Given the description of an element on the screen output the (x, y) to click on. 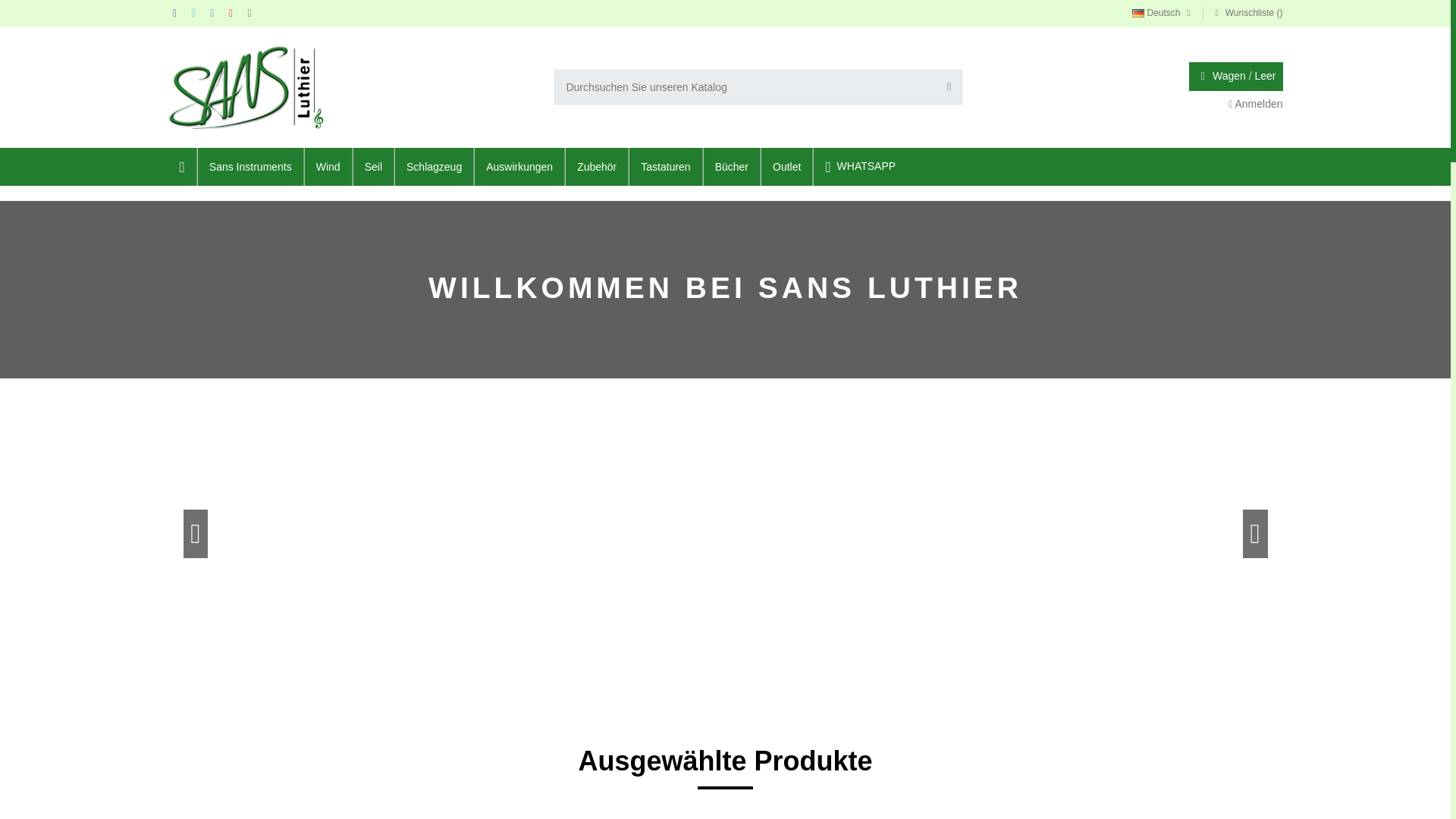
WHATSAPP (859, 166)
Wind (327, 166)
Seil (372, 166)
Outlet (786, 166)
Sans Instruments (249, 166)
Anmelden (1255, 103)
Auswirkungen (518, 166)
Deutsch (1162, 12)
Tastaturen (664, 166)
